Given the description of an element on the screen output the (x, y) to click on. 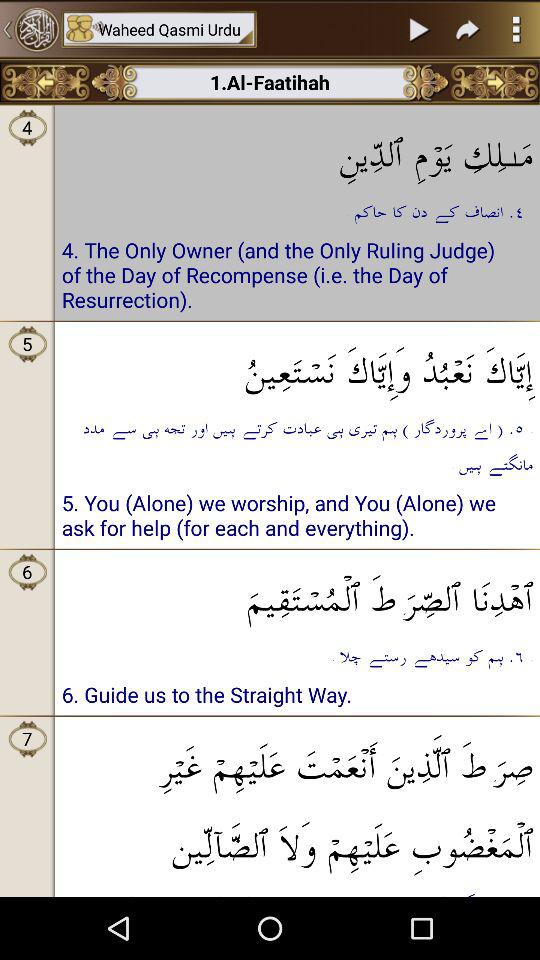
go to home (30, 29)
